Given the description of an element on the screen output the (x, y) to click on. 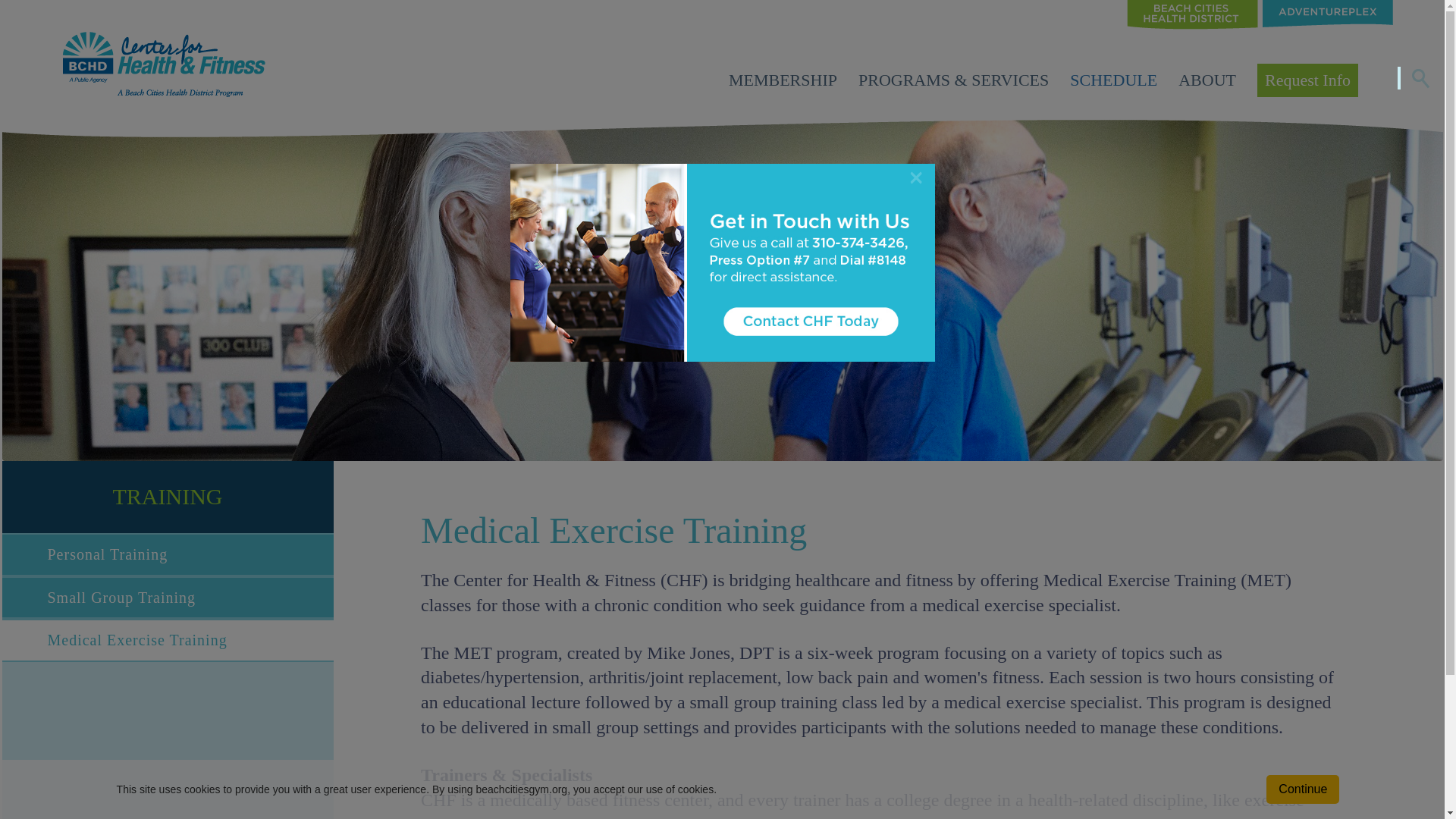
SCHEDULE (1113, 79)
